Given the description of an element on the screen output the (x, y) to click on. 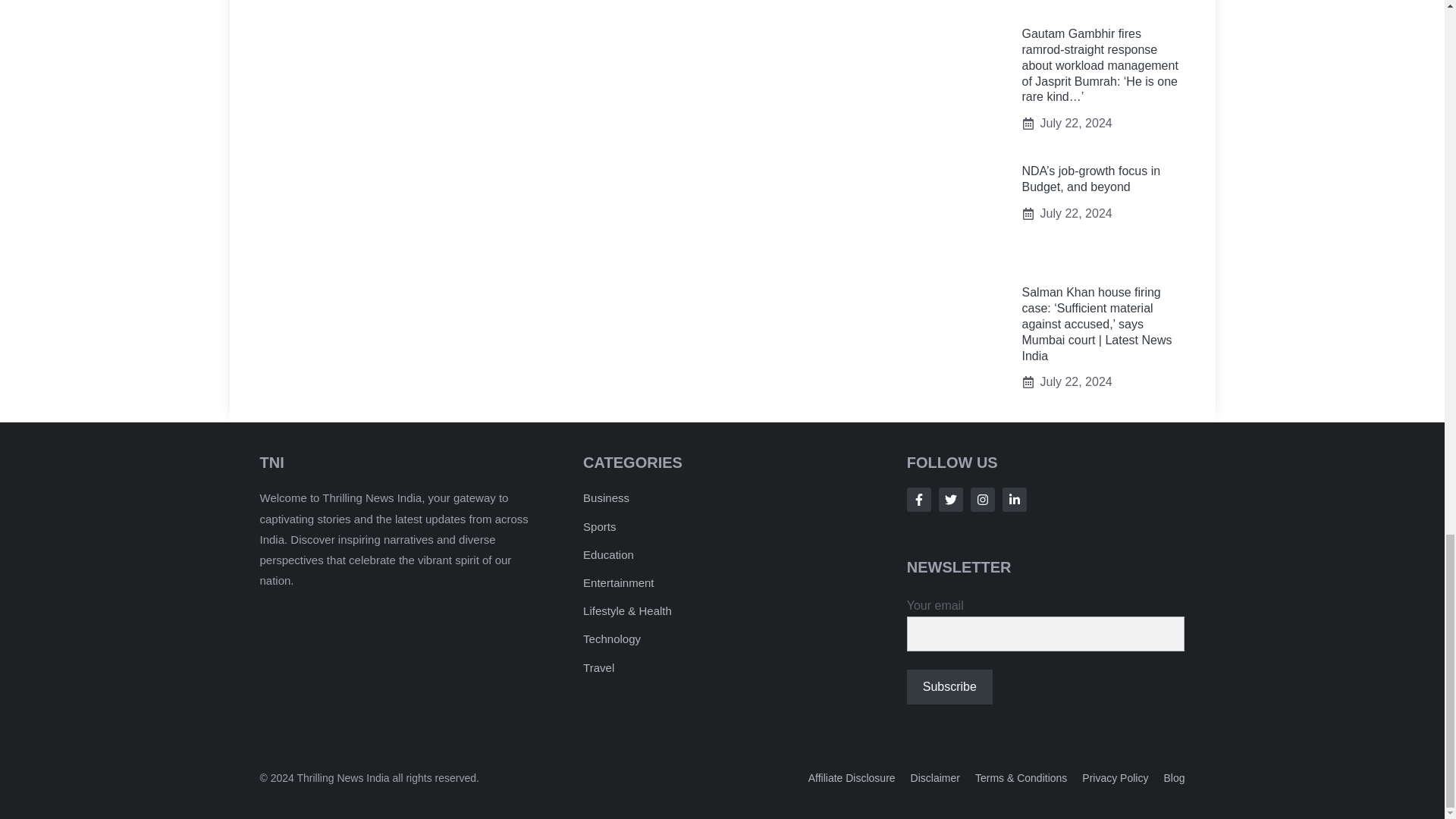
Sports (599, 526)
Technology (611, 638)
Education (608, 554)
Subscribe (949, 686)
Business (605, 497)
Entertainment (618, 582)
